Given the description of an element on the screen output the (x, y) to click on. 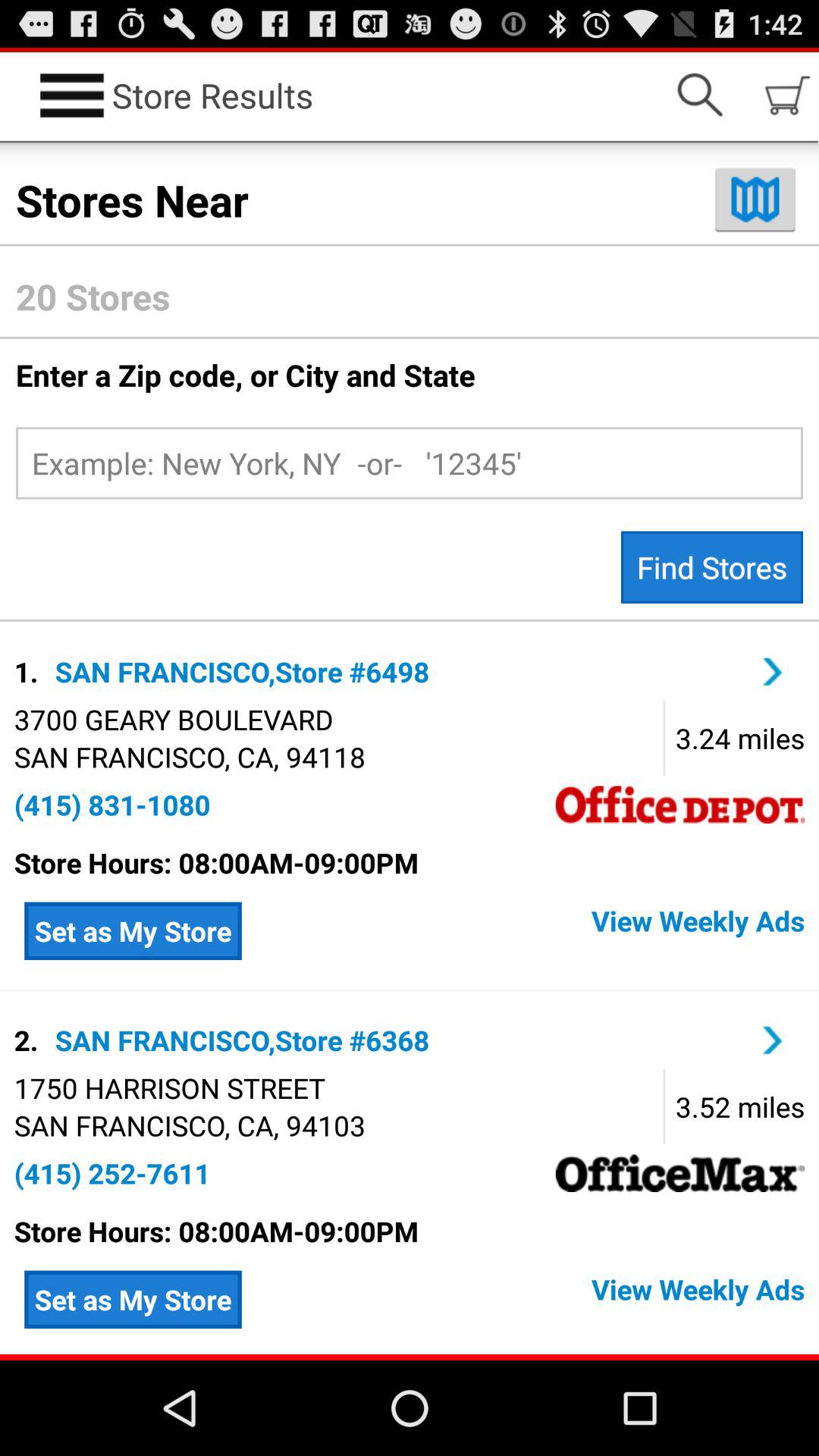
edit address text (409, 463)
